Given the description of an element on the screen output the (x, y) to click on. 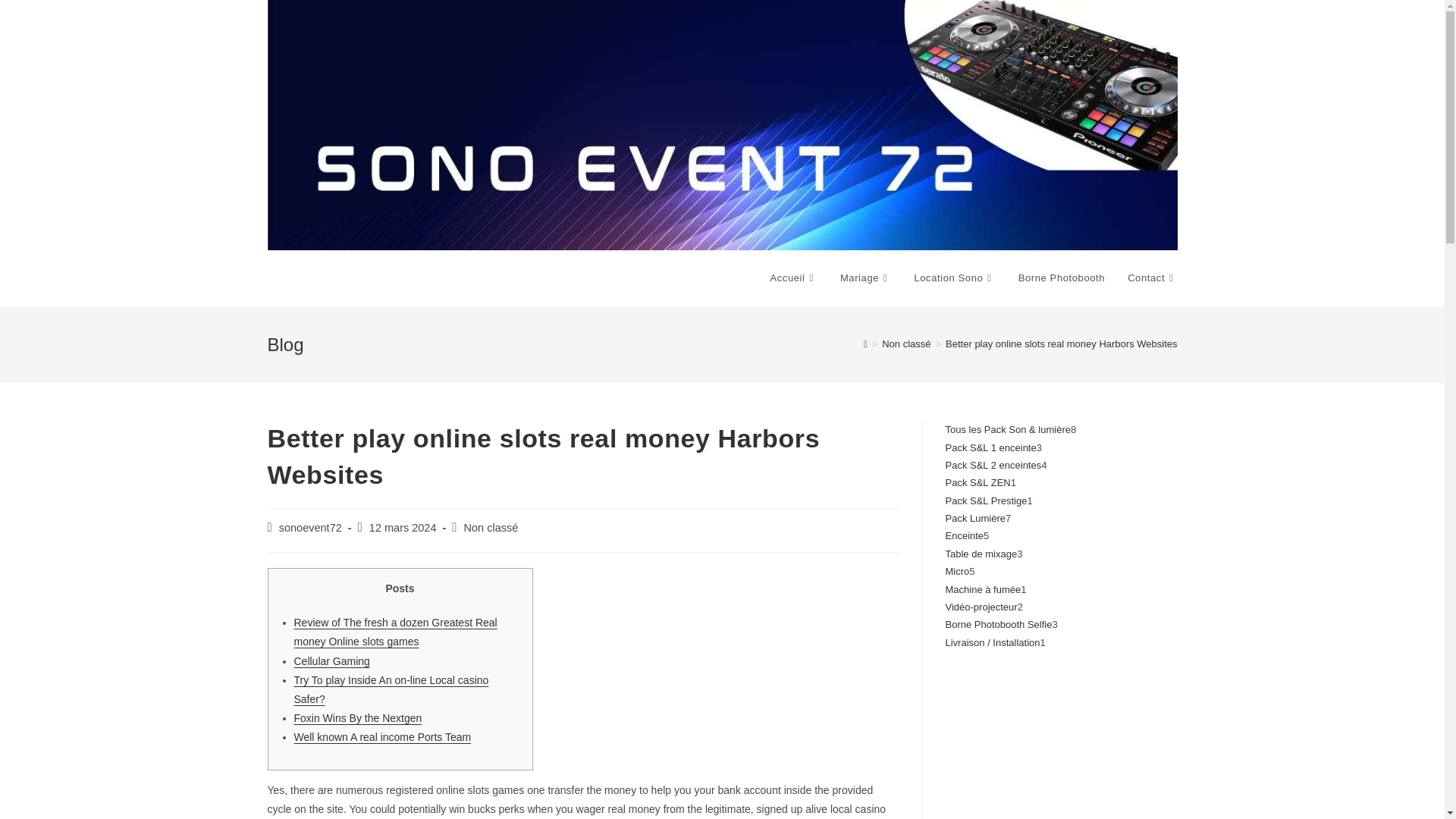
sonoevent72 (310, 527)
Articles par sonoevent72 (310, 527)
Cellular Gaming (331, 661)
Location Sono (954, 278)
Accueil (793, 278)
Well known A real income Ports Team (382, 736)
Better play online slots real money Harbors Websites (1060, 343)
Borne Photobooth (1061, 278)
Micro (956, 571)
